Given the description of an element on the screen output the (x, y) to click on. 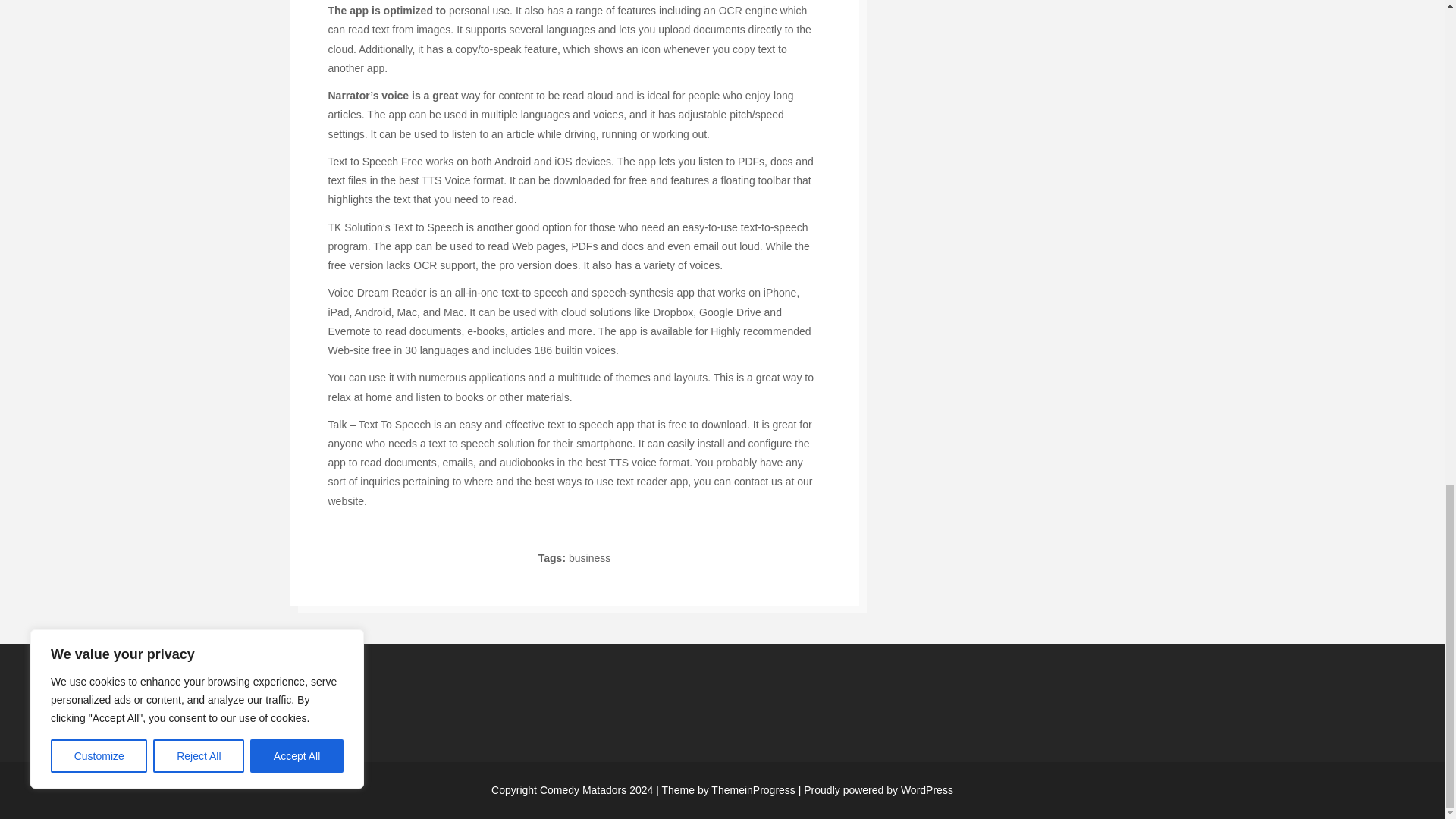
A Semantic Personal Publishing Platform (875, 789)
TTS Voice (446, 180)
